Given the description of an element on the screen output the (x, y) to click on. 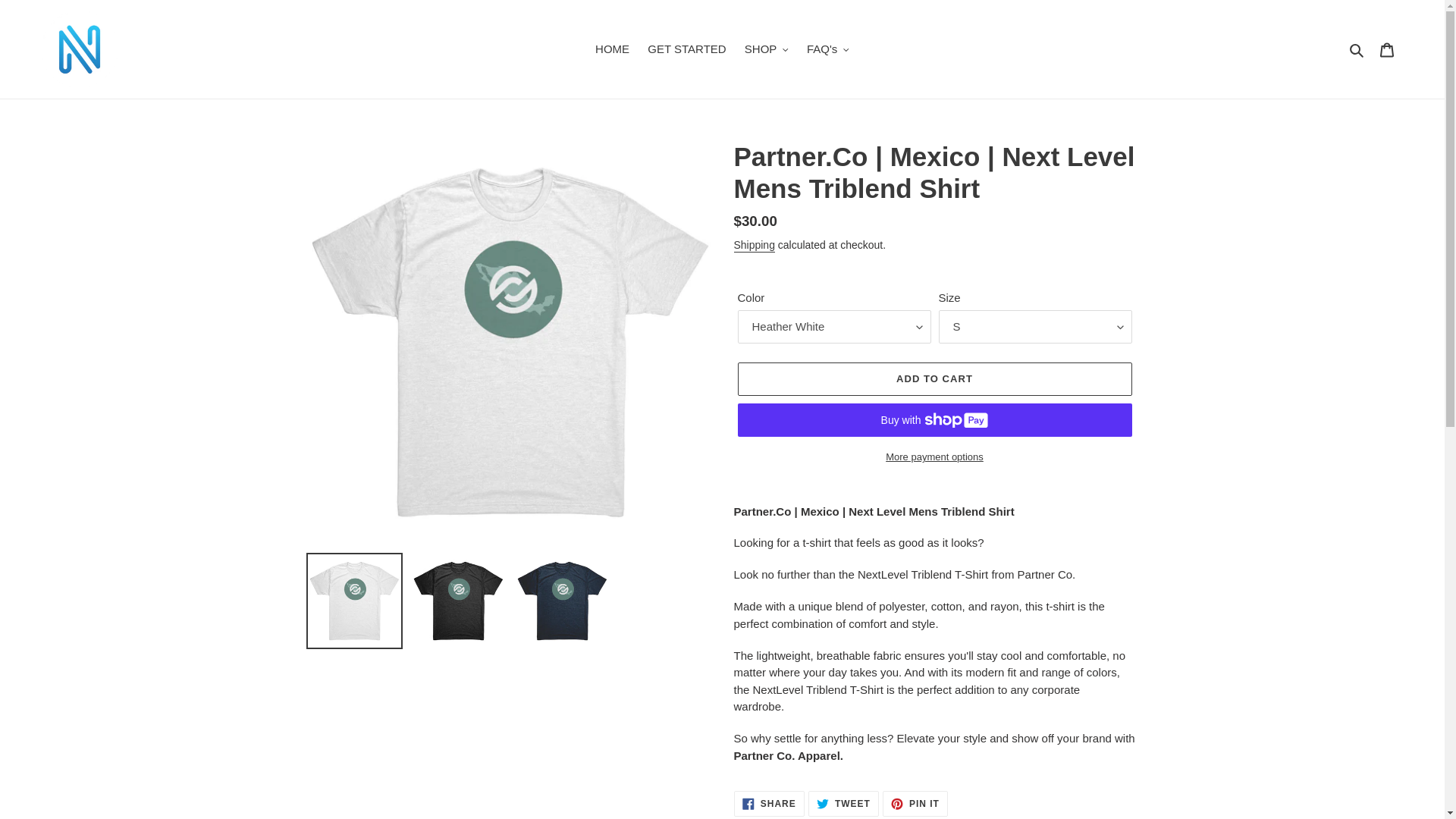
GET STARTED (686, 49)
ADD TO CART (933, 378)
SHOP (766, 49)
HOME (612, 49)
More payment options (843, 803)
Cart (933, 457)
FAQ's (769, 803)
Shipping (914, 803)
Search (1387, 49)
